Given the description of an element on the screen output the (x, y) to click on. 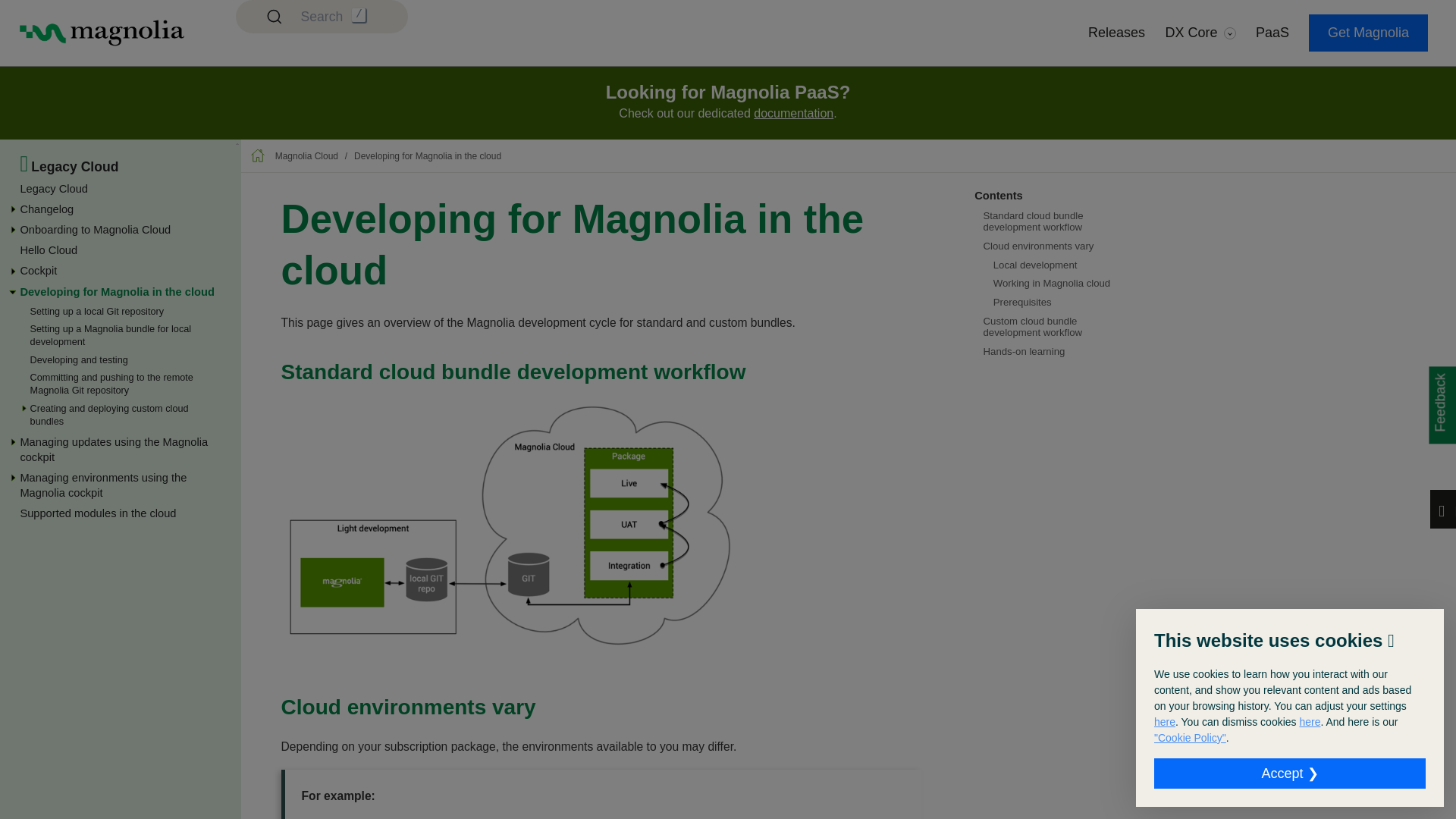
Releases (1116, 33)
documentation (793, 113)
Cockpit (38, 270)
Get Magnolia (1367, 32)
Hello Cloud (48, 250)
Onboarding to Magnolia Cloud (95, 229)
Legacy Cloud (53, 188)
Changelog (47, 209)
